Given the description of an element on the screen output the (x, y) to click on. 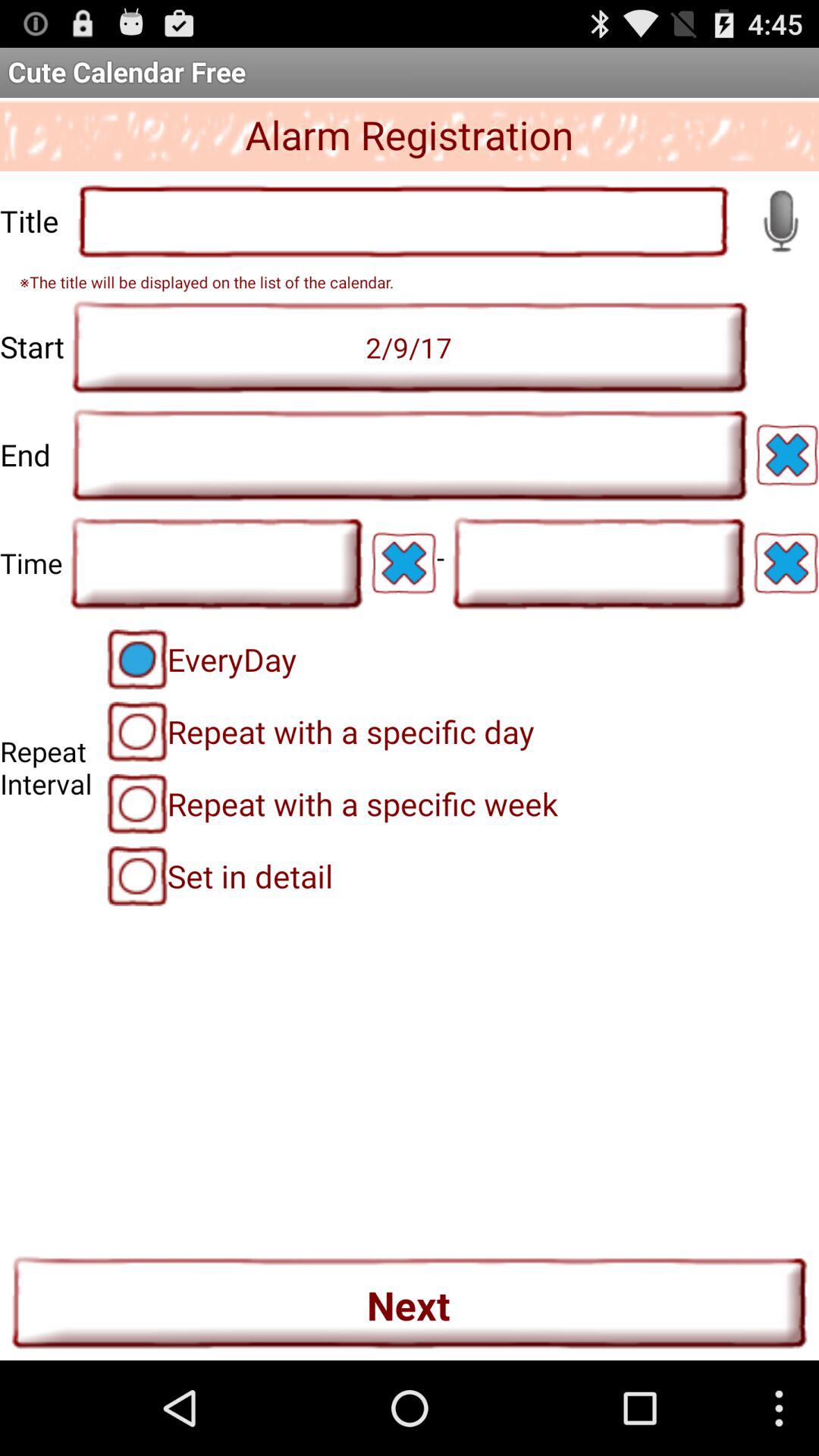
text box (598, 562)
